Given the description of an element on the screen output the (x, y) to click on. 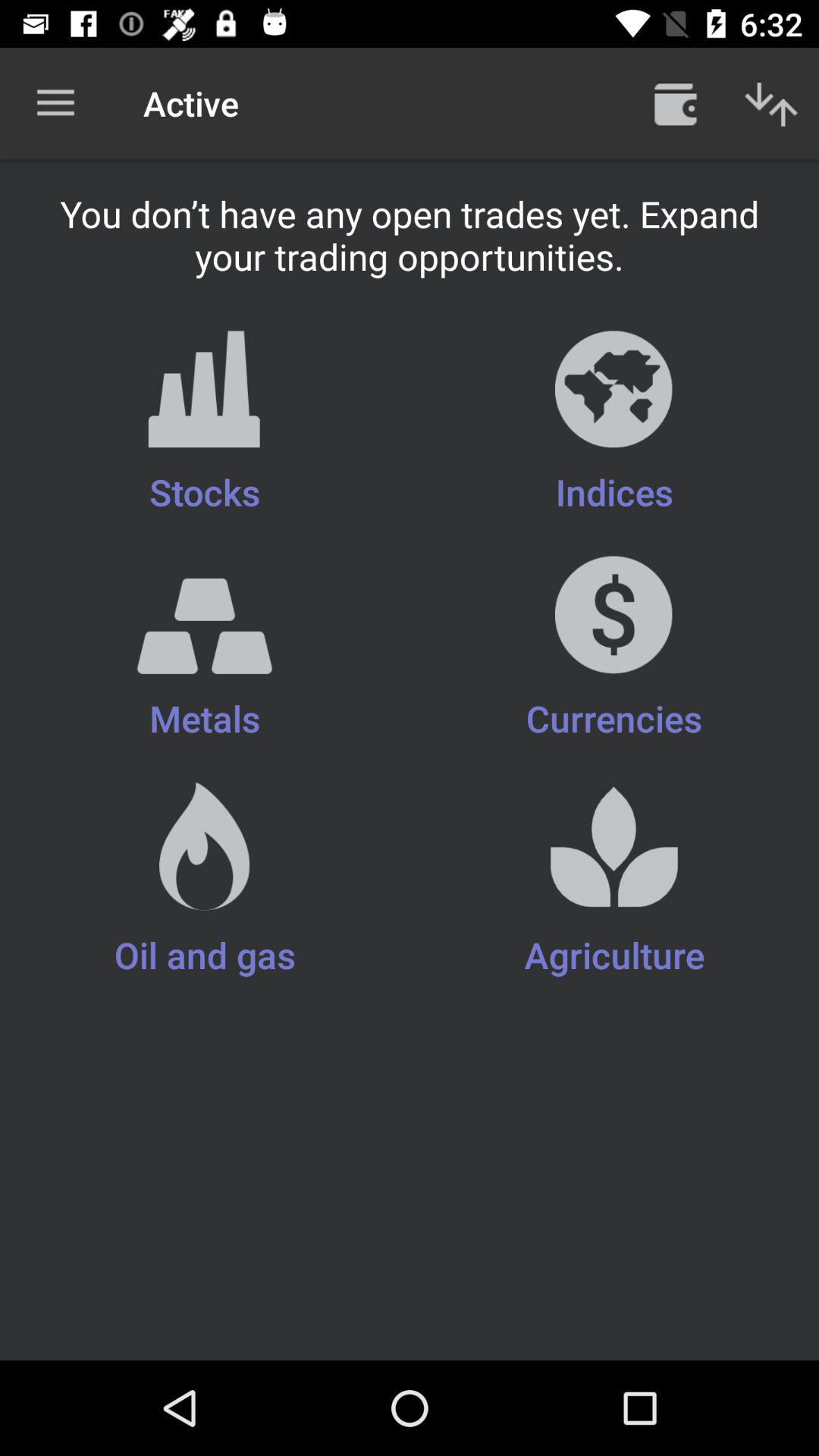
select the item next to the active icon (675, 103)
